Given the description of an element on the screen output the (x, y) to click on. 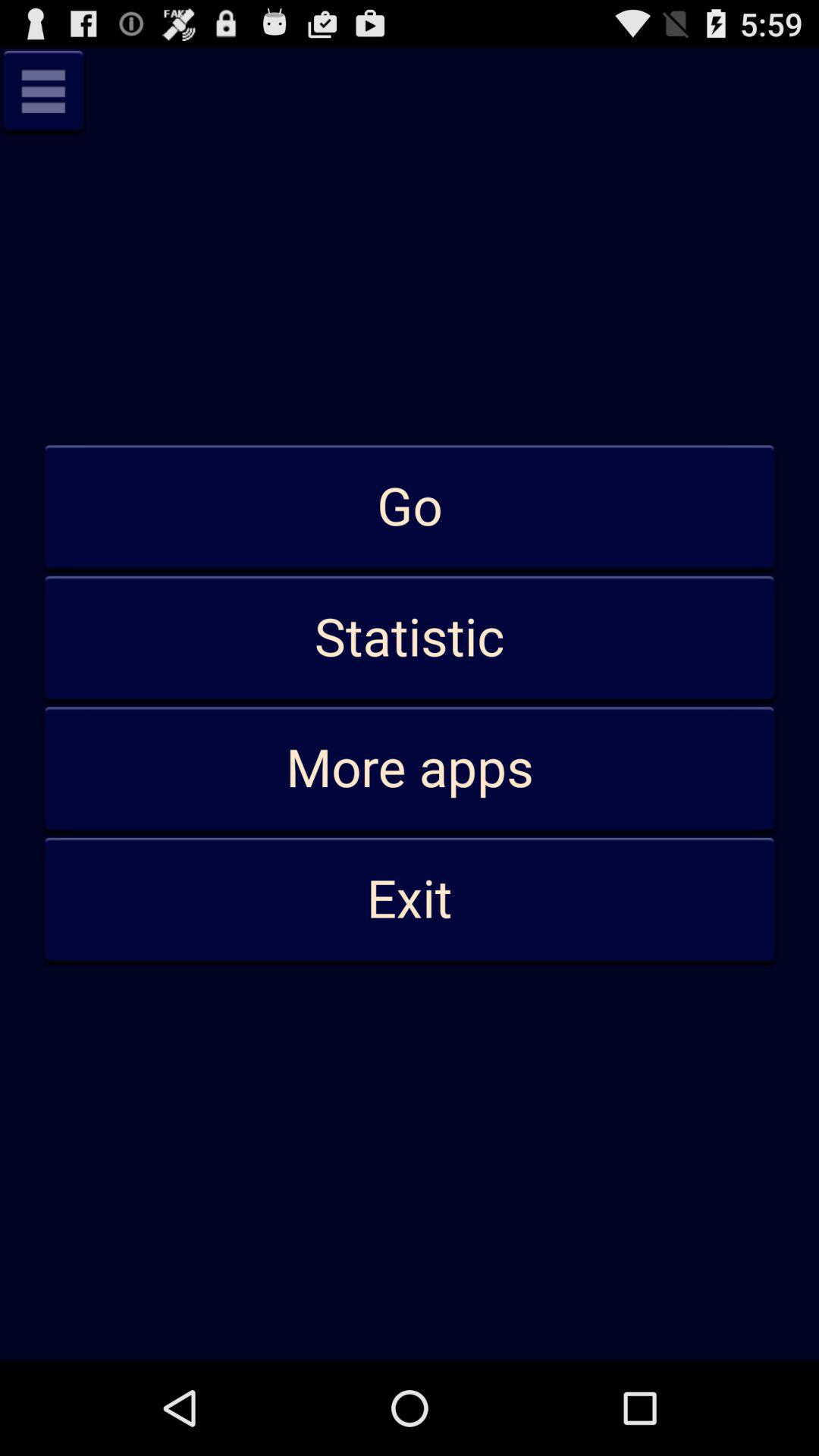
show menu (43, 90)
